Given the description of an element on the screen output the (x, y) to click on. 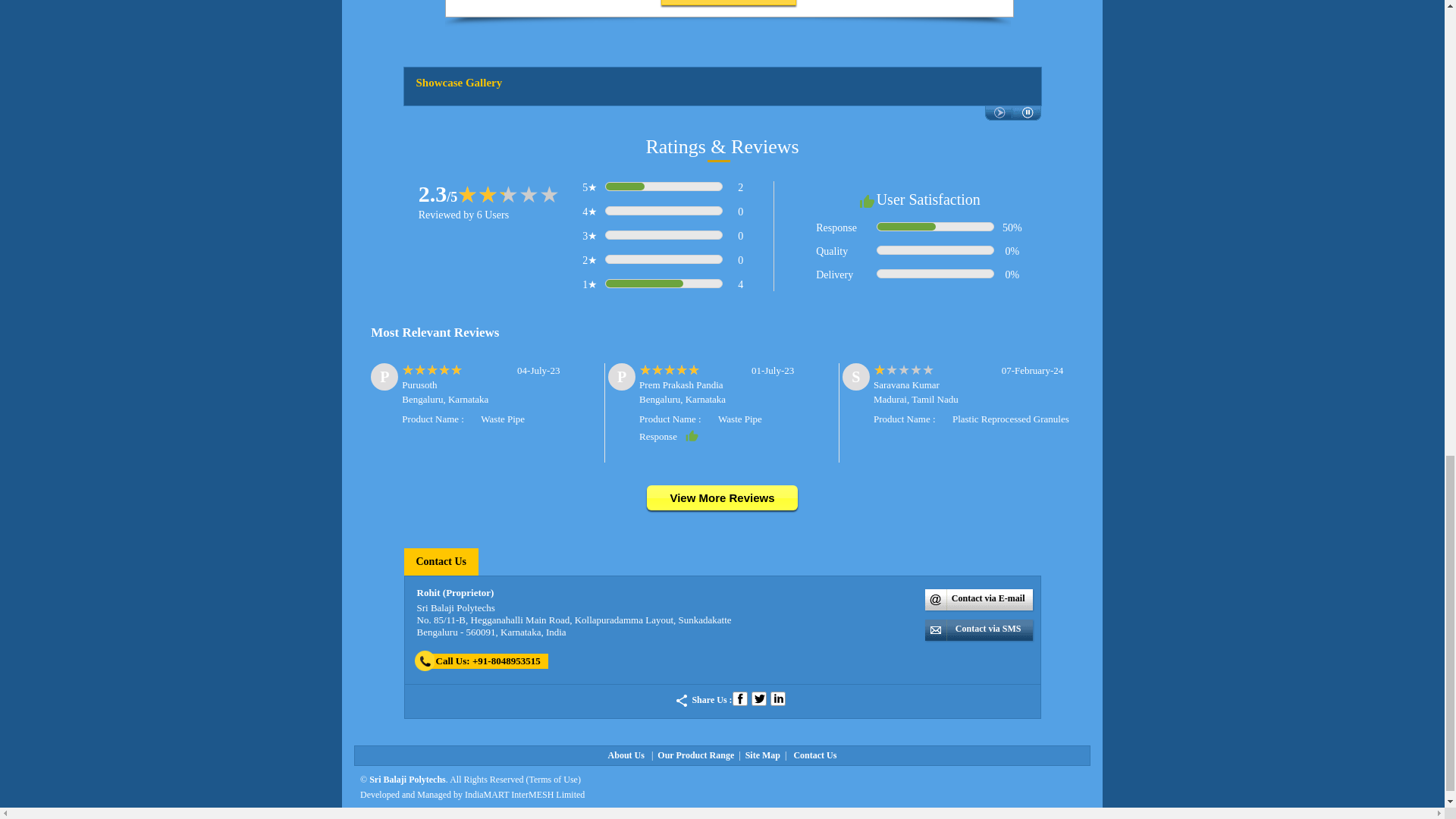
View More Reviews (721, 498)
T (759, 698)
L (778, 698)
Terms of Use (552, 778)
IndiaMART InterMESH Limited (524, 794)
Contact Us (439, 561)
Send it Now ! (728, 2)
Site Map (762, 755)
Send it Now ! (728, 2)
About Us (626, 755)
